Given the description of an element on the screen output the (x, y) to click on. 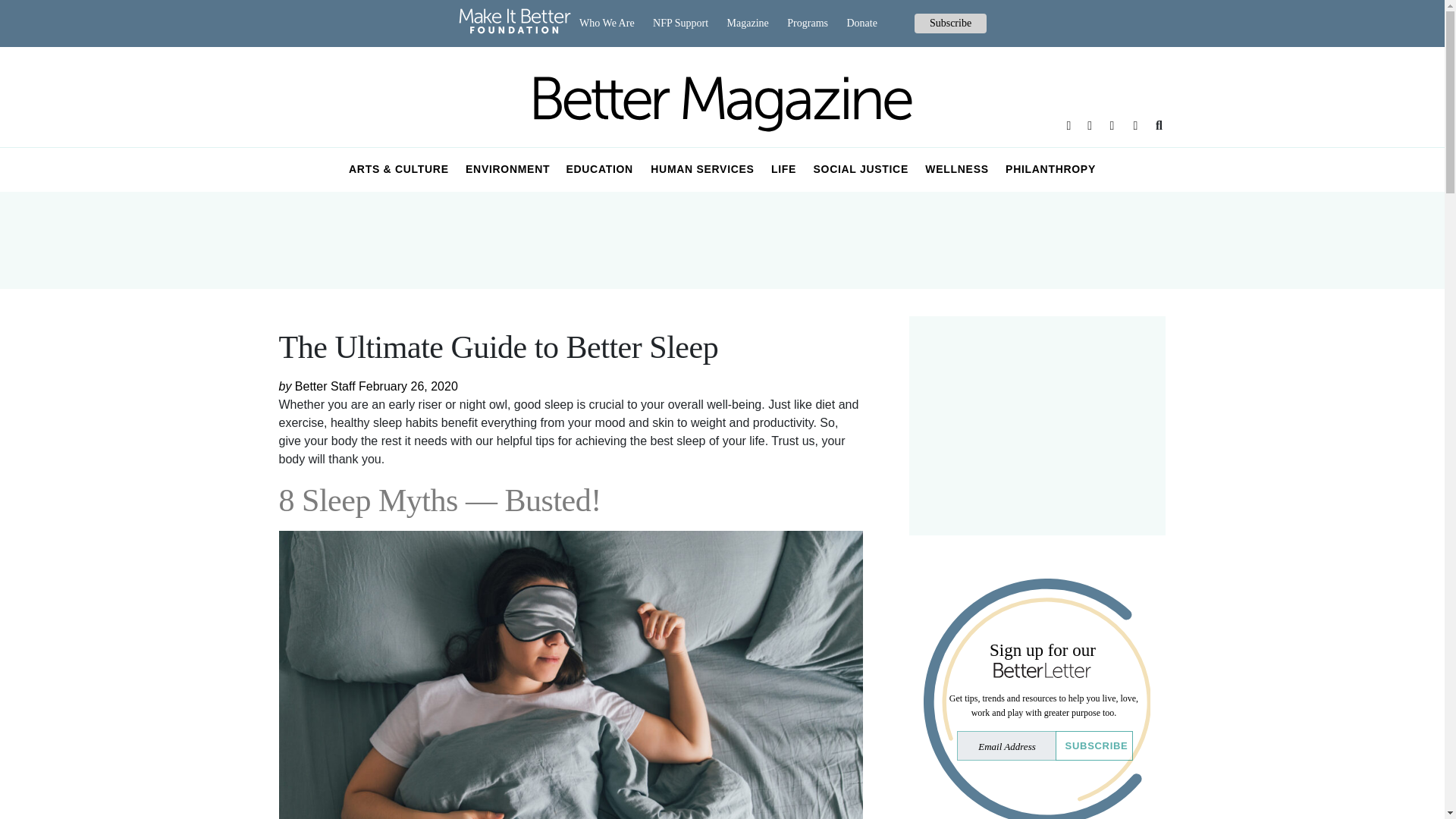
by Better Staff (319, 386)
LIFE (783, 169)
HUMAN SERVICES (702, 169)
ENVIRONMENT (508, 169)
SOCIAL JUSTICE (861, 169)
EDUCATION (599, 169)
PHILANTHROPY (1050, 169)
WELLNESS (957, 169)
3rd party ad content (721, 239)
3rd party ad content (1037, 425)
